Given the description of an element on the screen output the (x, y) to click on. 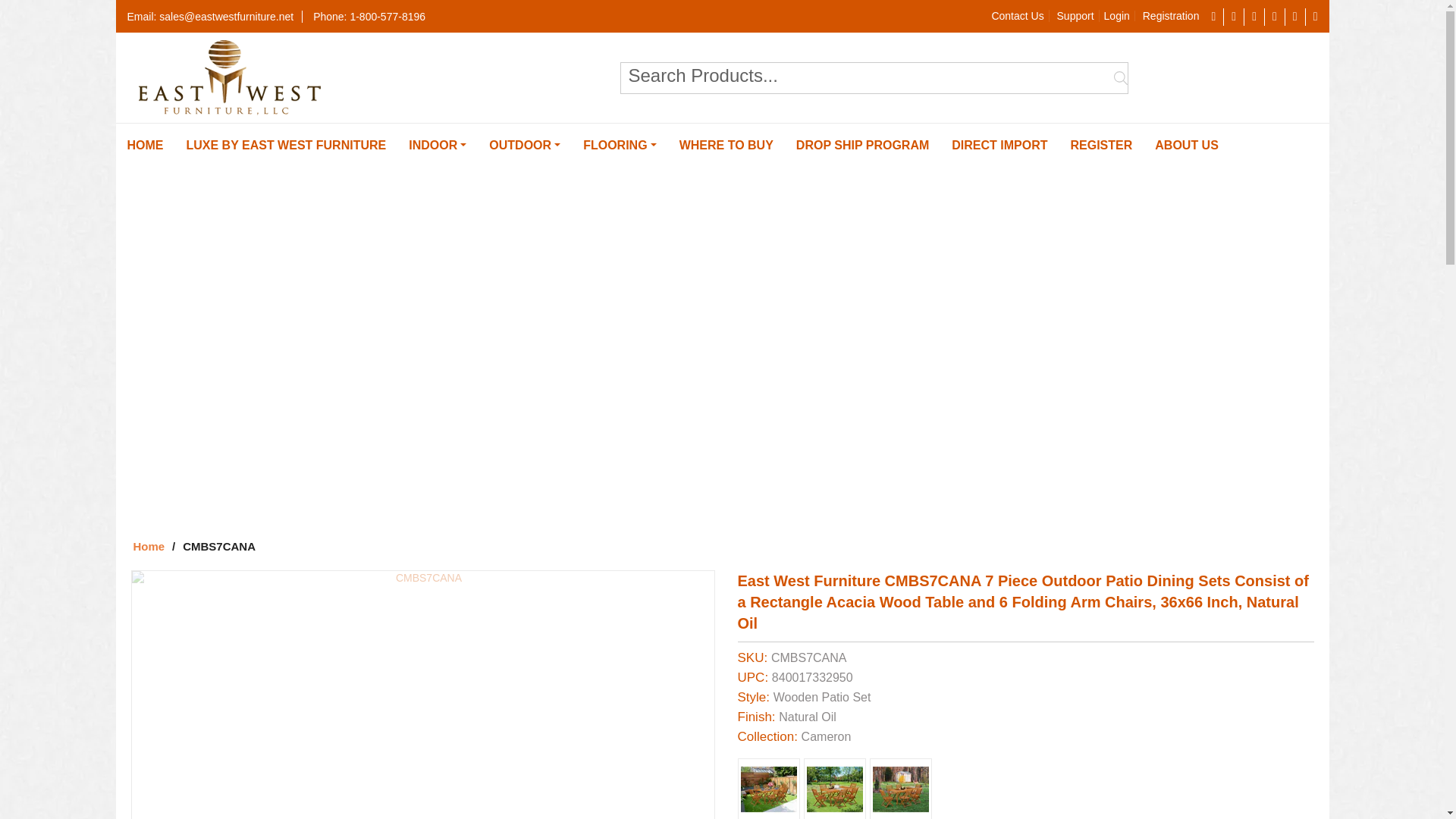
INDOOR (437, 145)
Phone: 1-800-577-8196 (367, 16)
FLOORING (620, 145)
Tum (1295, 16)
Contact Us (1017, 15)
LUXE BY EAST WEST FURNITURE (285, 145)
East West Furniture Main Site on Linkedin (1295, 16)
Pin (1254, 16)
WHERE TO BUY (726, 145)
Login (1117, 15)
